Given the description of an element on the screen output the (x, y) to click on. 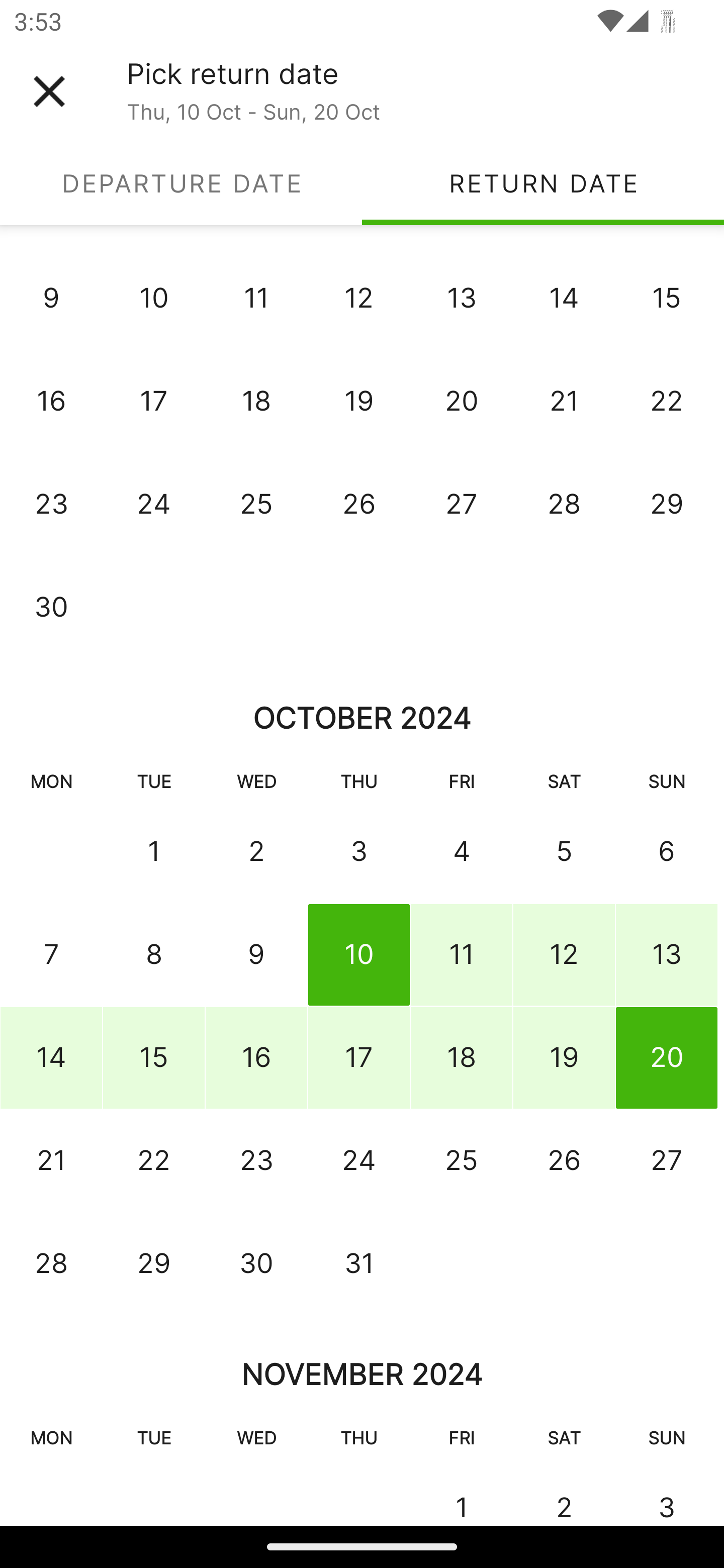
Departure Date DEPARTURE DATE (181, 183)
